Given the description of an element on the screen output the (x, y) to click on. 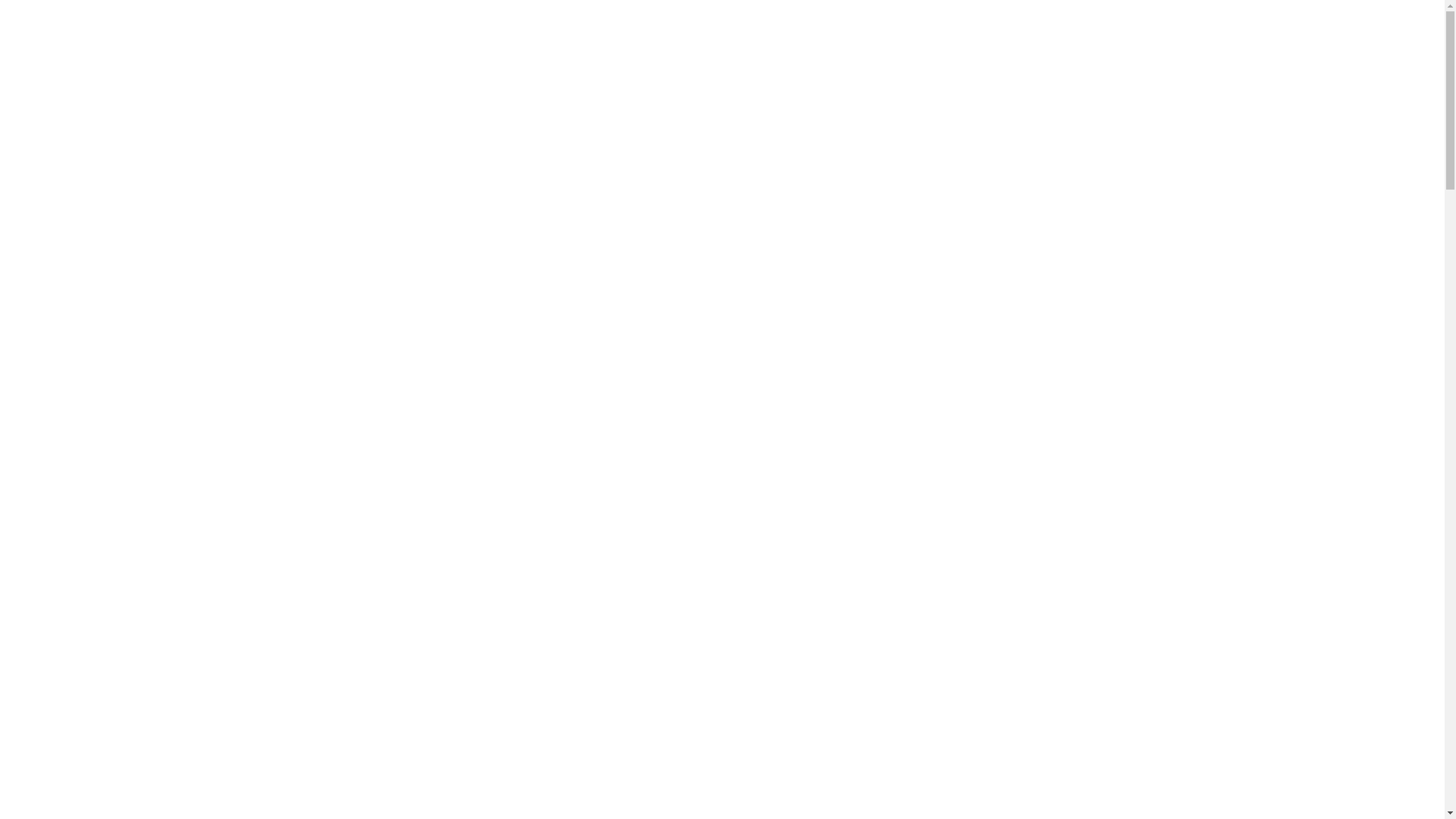
SHOP Element type: text (1124, 45)
0 Element type: text (1398, 45)
LOOKBOOK Element type: text (1206, 45)
CONTACT Element type: text (1280, 45)
